Given the description of an element on the screen output the (x, y) to click on. 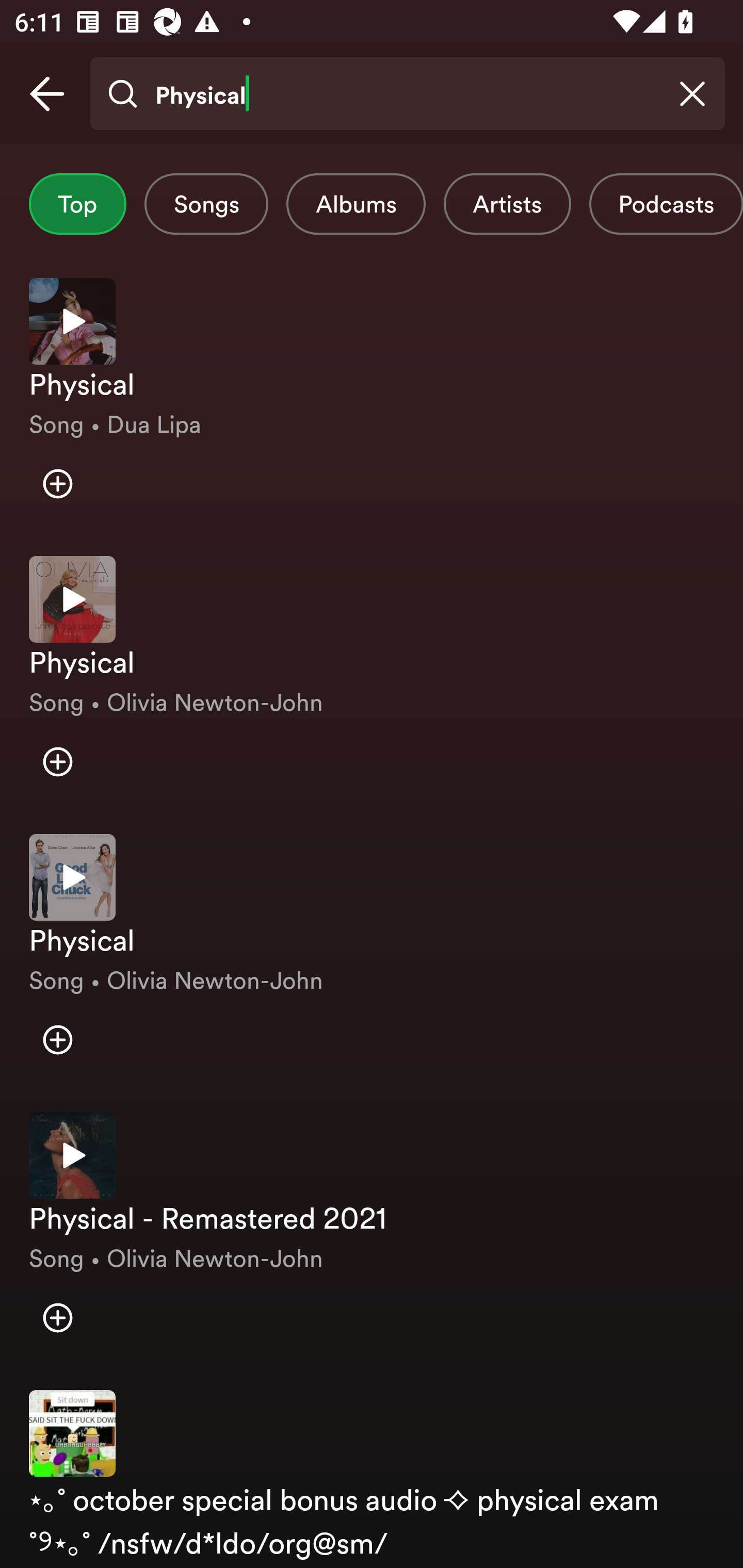
Back (46, 93)
Physical Search (407, 94)
Clear Search (692, 94)
Top (77, 203)
Songs (206, 203)
Albums (355, 203)
Artists (507, 203)
Podcasts (666, 203)
Play preview Physical Song • Dua Lipa Add item (371, 401)
Play preview (71, 321)
Add item (57, 483)
Play preview (71, 599)
Add item (57, 761)
Play preview (71, 877)
Add item (57, 1040)
Play preview (71, 1154)
Add item (57, 1317)
